Given the description of an element on the screen output the (x, y) to click on. 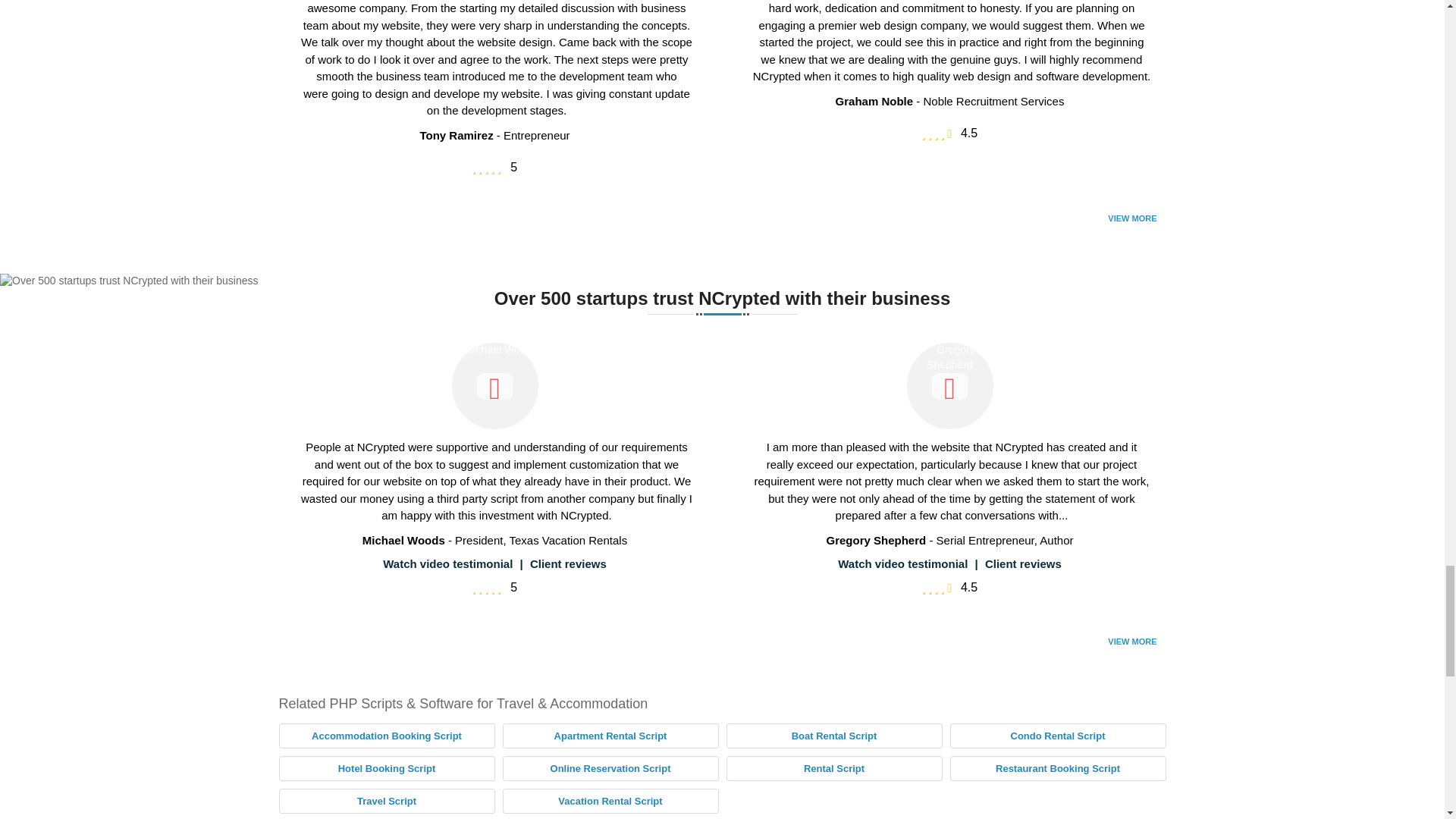
Client reviews (568, 563)
Watch video testimonial (447, 563)
VIEW MORE (1132, 217)
